Given the description of an element on the screen output the (x, y) to click on. 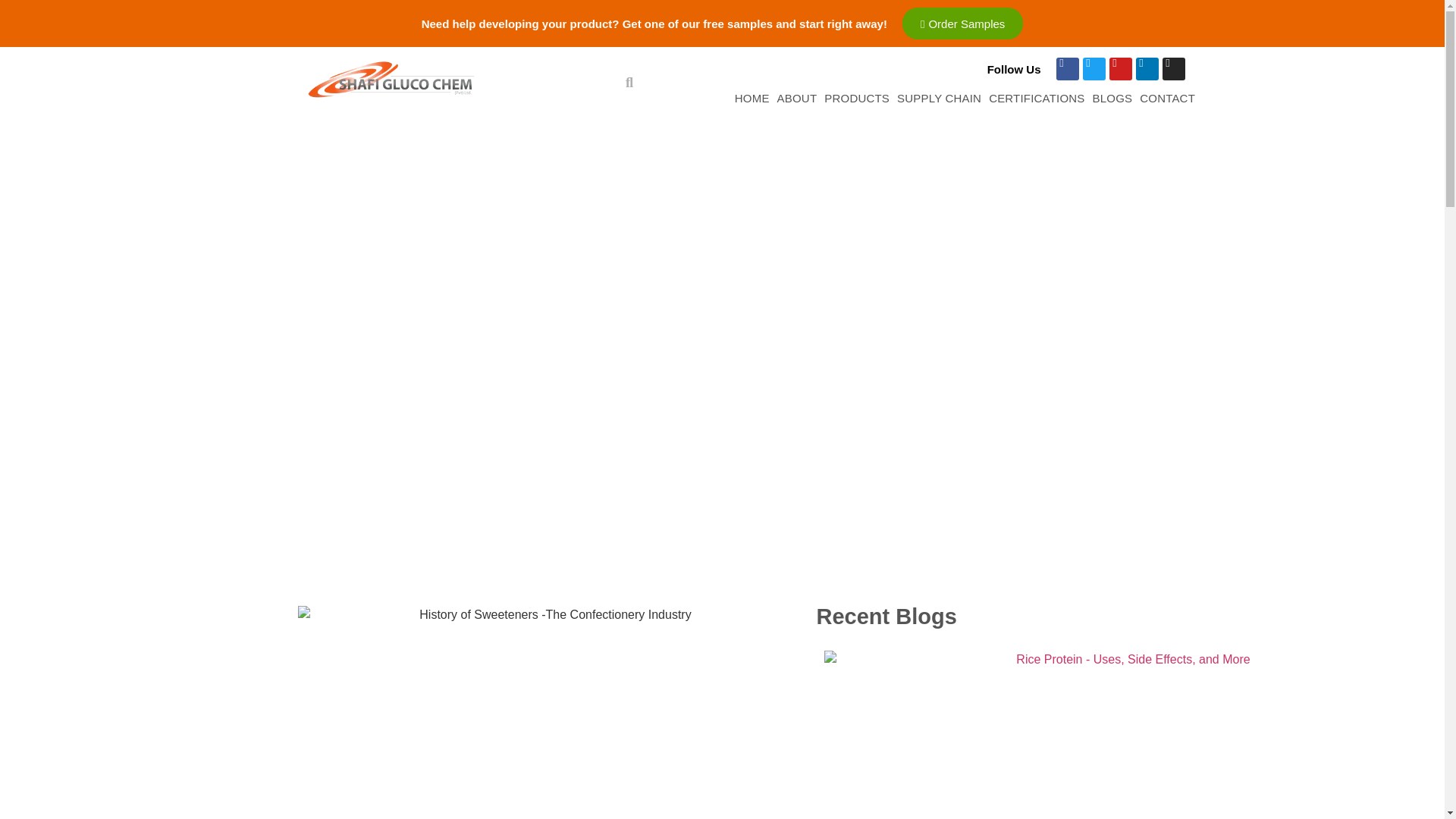
Order Samples (962, 23)
